Given the description of an element on the screen output the (x, y) to click on. 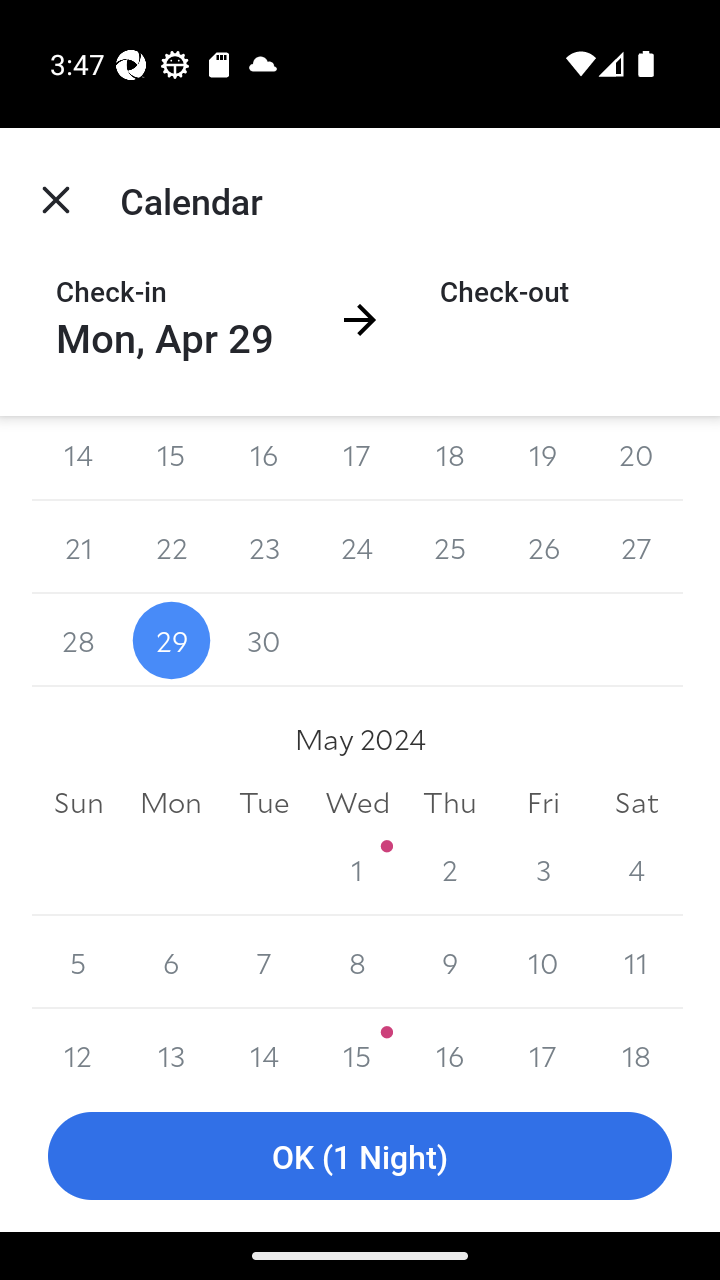
14 14 April 2024 (78, 458)
15 15 April 2024 (171, 458)
16 16 April 2024 (264, 458)
17 17 April 2024 (357, 458)
18 18 April 2024 (449, 458)
19 19 April 2024 (542, 458)
20 20 April 2024 (636, 458)
21 21 April 2024 (78, 546)
22 22 April 2024 (171, 546)
23 23 April 2024 (264, 546)
24 24 April 2024 (357, 546)
25 25 April 2024 (449, 546)
26 26 April 2024 (542, 546)
27 27 April 2024 (636, 546)
28 28 April 2024 (78, 640)
29 29 April 2024 (171, 640)
30 30 April 2024 (264, 640)
Sun (78, 802)
Mon (171, 802)
Tue (264, 802)
Wed (357, 802)
Thu (449, 802)
Fri (542, 802)
Sat (636, 802)
1 1 May 2024 (357, 869)
2 2 May 2024 (449, 869)
3 3 May 2024 (542, 869)
4 4 May 2024 (636, 869)
5 5 May 2024 (78, 962)
6 6 May 2024 (171, 962)
7 7 May 2024 (264, 962)
8 8 May 2024 (357, 962)
9 9 May 2024 (449, 962)
10 10 May 2024 (542, 962)
11 11 May 2024 (636, 962)
12 12 May 2024 (78, 1044)
13 13 May 2024 (171, 1044)
14 14 May 2024 (264, 1044)
15 15 May 2024 (357, 1044)
16 16 May 2024 (449, 1044)
17 17 May 2024 (542, 1044)
18 18 May 2024 (636, 1044)
OK (1 Night) (359, 1156)
